Given the description of an element on the screen output the (x, y) to click on. 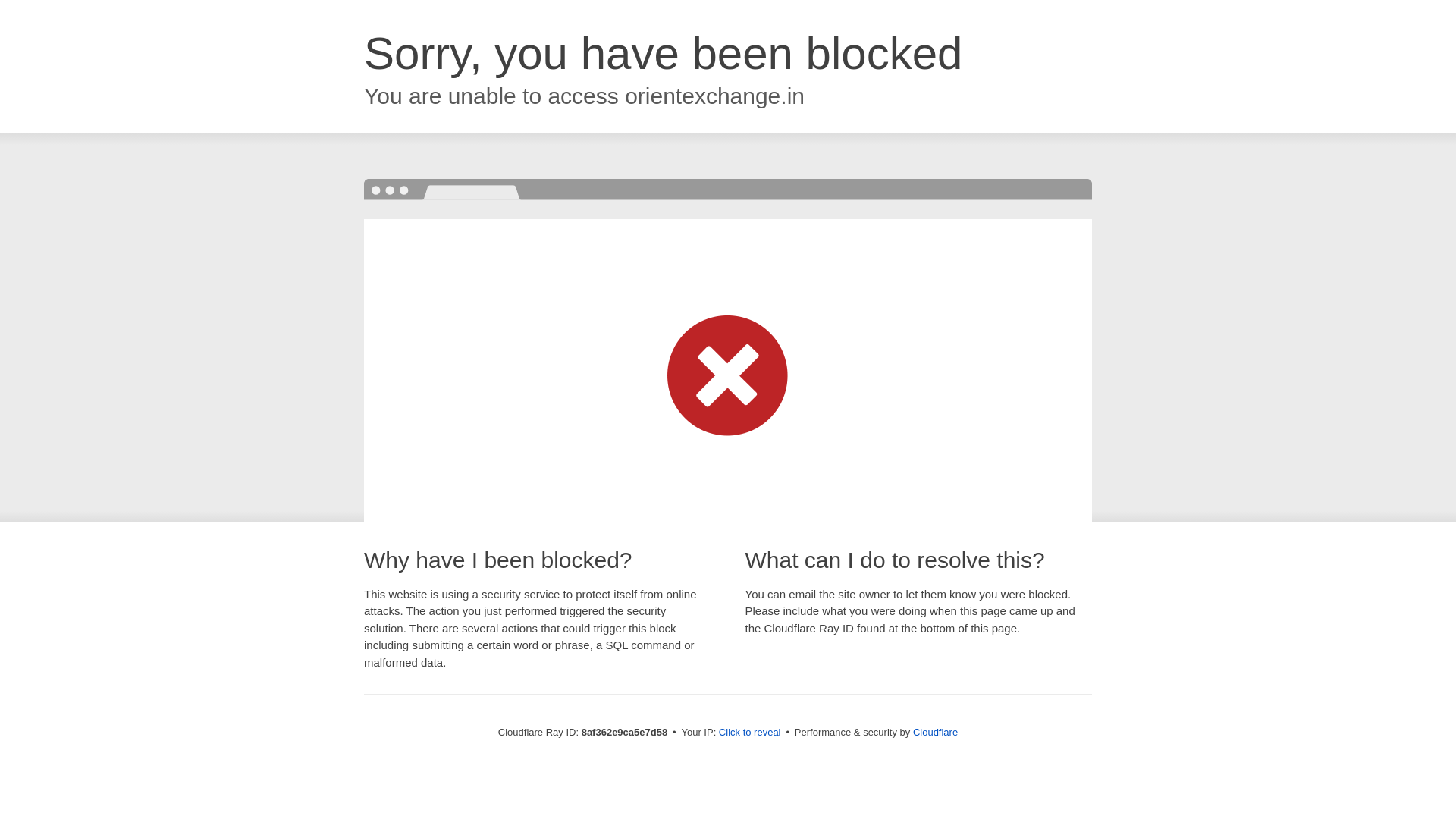
Cloudflare (935, 731)
Click to reveal (749, 732)
